Given the description of an element on the screen output the (x, y) to click on. 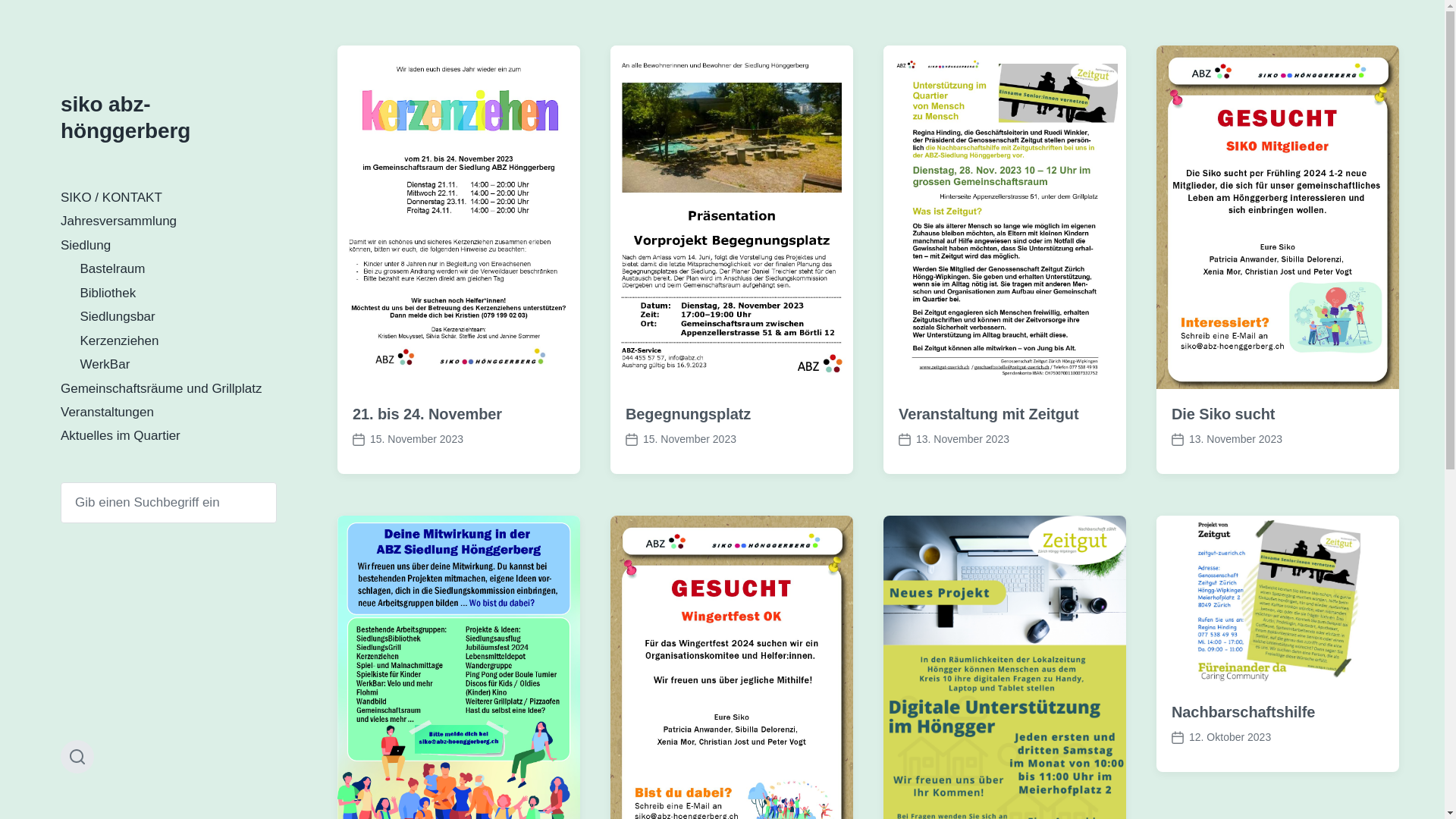
Beitragsdatum
13. November 2023 Element type: text (953, 439)
Aktuelles im Quartier Element type: text (120, 435)
Jahresversammlung Element type: text (118, 220)
Veranstaltung mit Zeitgut Element type: text (988, 413)
Beitragsdatum
13. November 2023 Element type: text (1226, 439)
21. bis 24. November Element type: text (427, 413)
Bastelraum Element type: text (112, 268)
Begegnungsplatz Element type: text (687, 413)
Beitragsdatum
15. November 2023 Element type: text (407, 439)
Die Siko sucht Element type: text (1222, 413)
Suchen Element type: text (60, 482)
Siedlung Element type: text (85, 245)
Siedlungsbar Element type: text (117, 316)
WerkBar Element type: text (105, 364)
Nachbarschaftshilfe Element type: text (1242, 711)
Beitragsdatum
12. Oktober 2023 Element type: text (1220, 737)
Veranstaltungen Element type: text (106, 411)
Bibliothek Element type: text (108, 292)
Suchfeld umschalten Element type: text (77, 756)
Beitragsdatum
15. November 2023 Element type: text (680, 439)
Kerzenziehen Element type: text (119, 340)
SIKO / KONTAKT Element type: text (111, 197)
